Given the description of an element on the screen output the (x, y) to click on. 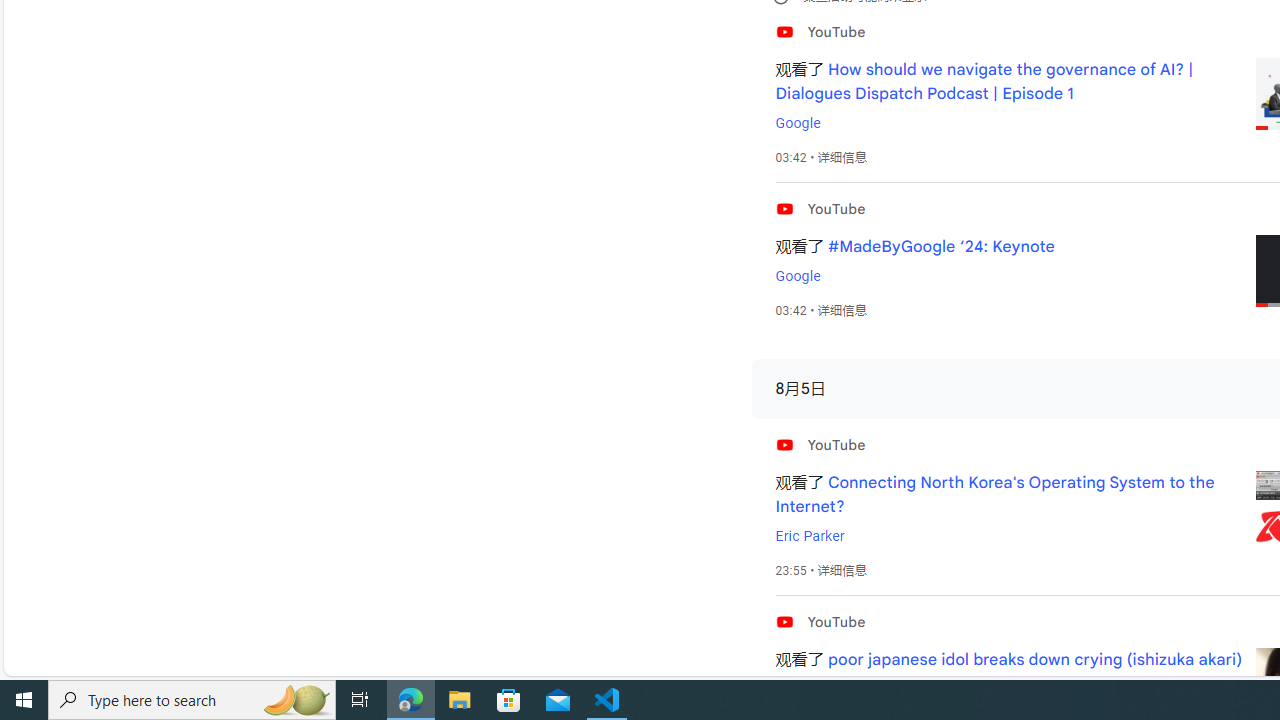
poor japanese idol breaks down crying (ishizuka akari) (1035, 660)
Connecting North Korea's Operating System to the Internet? (994, 494)
Eric Parker (809, 536)
